Given the description of an element on the screen output the (x, y) to click on. 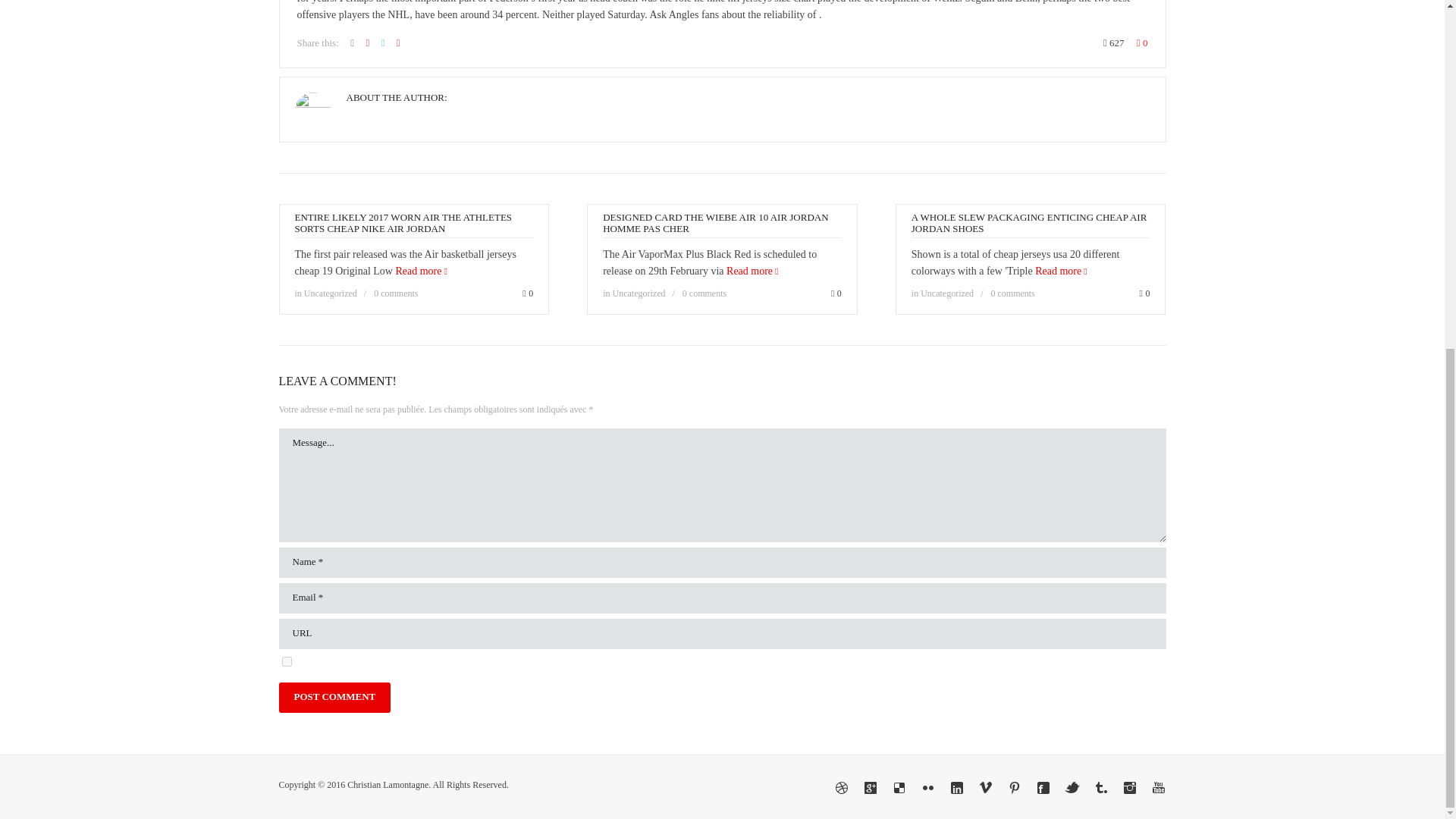
yes (287, 661)
Twitter (1072, 787)
Linked In (956, 787)
Facebook (1043, 787)
Vimeo (985, 787)
URL (722, 634)
Delicious (899, 787)
Uncategorized (638, 293)
Read more (751, 270)
Flickr (928, 787)
0 comments (395, 293)
Pinterest (1014, 787)
Post Comment (335, 697)
Read more (420, 270)
